Given the description of an element on the screen output the (x, y) to click on. 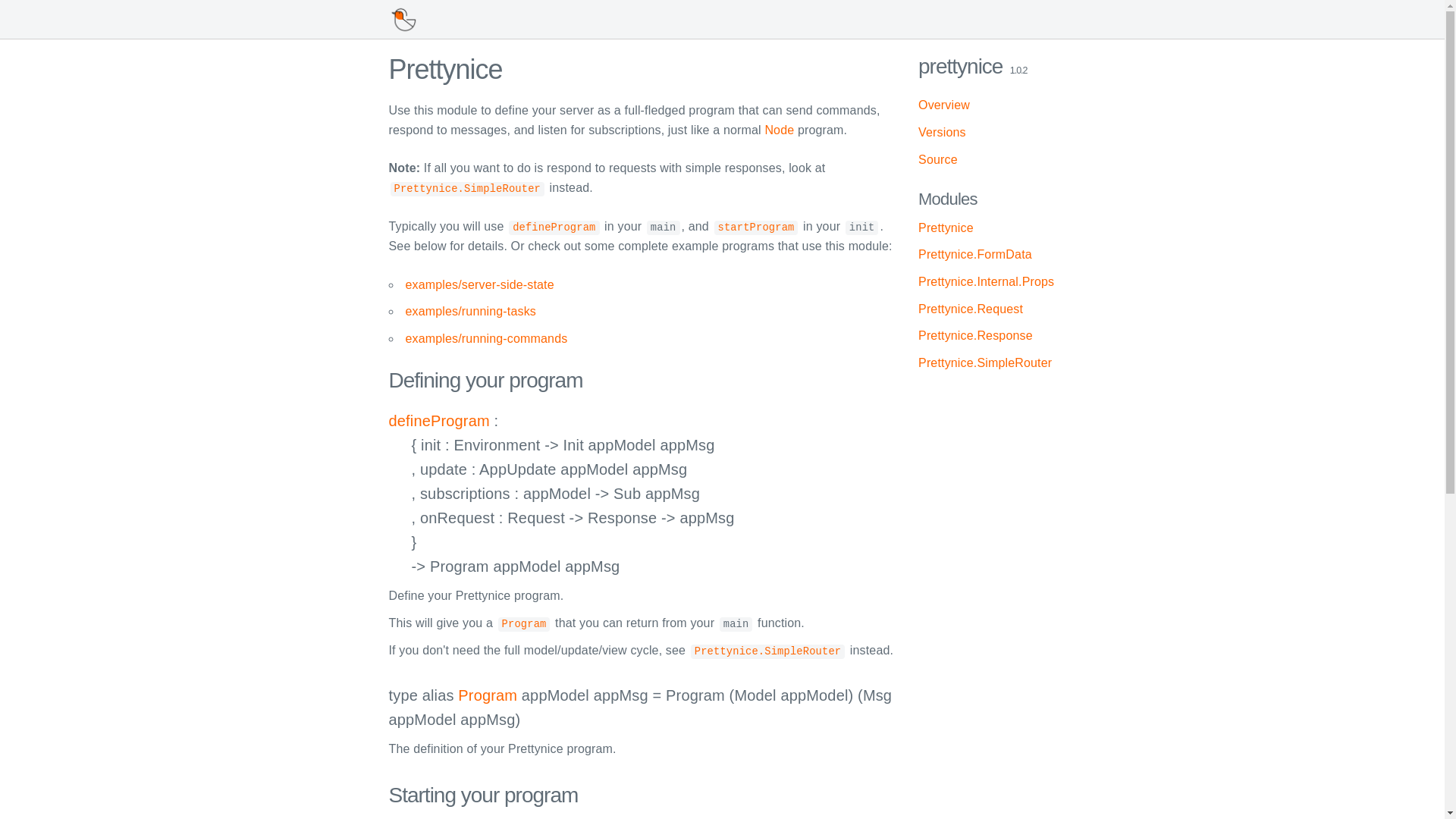
defineProgram (552, 226)
Program (487, 695)
Program (523, 622)
Prettynice.Response (975, 335)
Prettynice.Request (970, 308)
Other versions (942, 132)
Prettynice.FormData (975, 254)
Prettynice.SimpleRouter (766, 649)
startProgram (756, 226)
Prettynice.Response (975, 335)
